Given the description of an element on the screen output the (x, y) to click on. 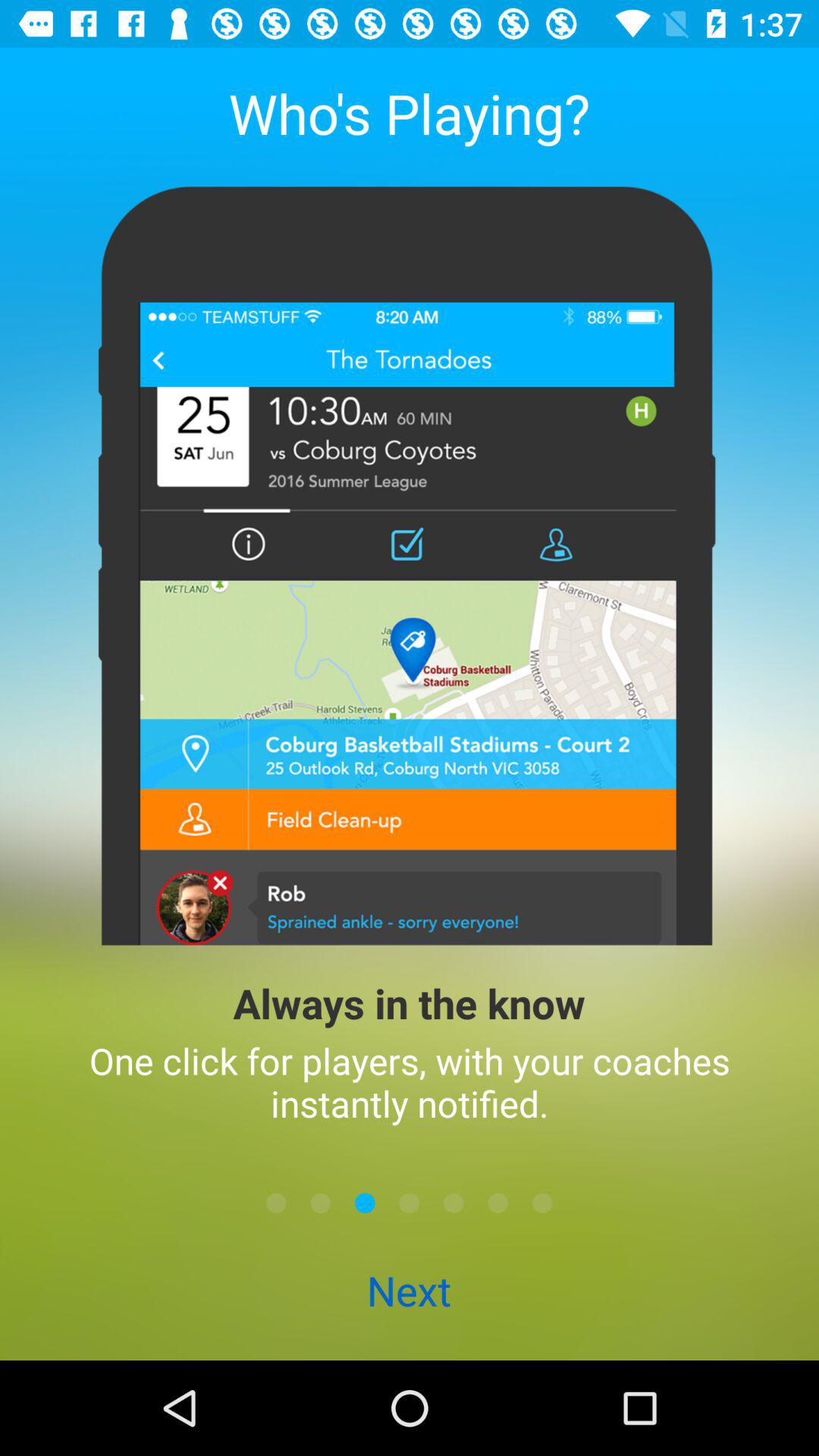
turn off the icon below one click for item (453, 1203)
